Given the description of an element on the screen output the (x, y) to click on. 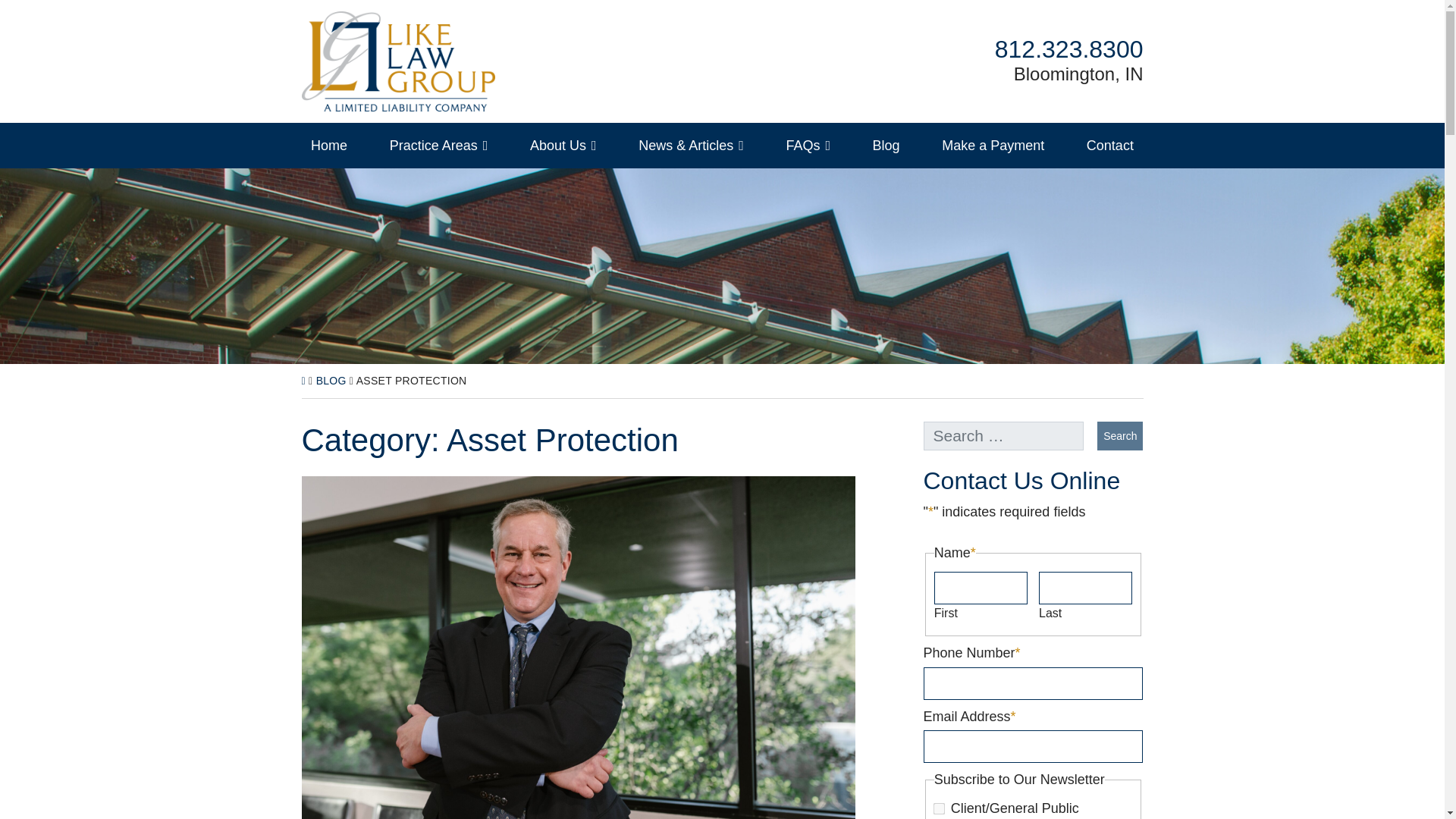
Make a Payment (993, 145)
Search (1119, 435)
About Us (1068, 49)
Return home (562, 145)
FAQs (398, 60)
Go to Blog. (808, 145)
Blog (330, 380)
